Given the description of an element on the screen output the (x, y) to click on. 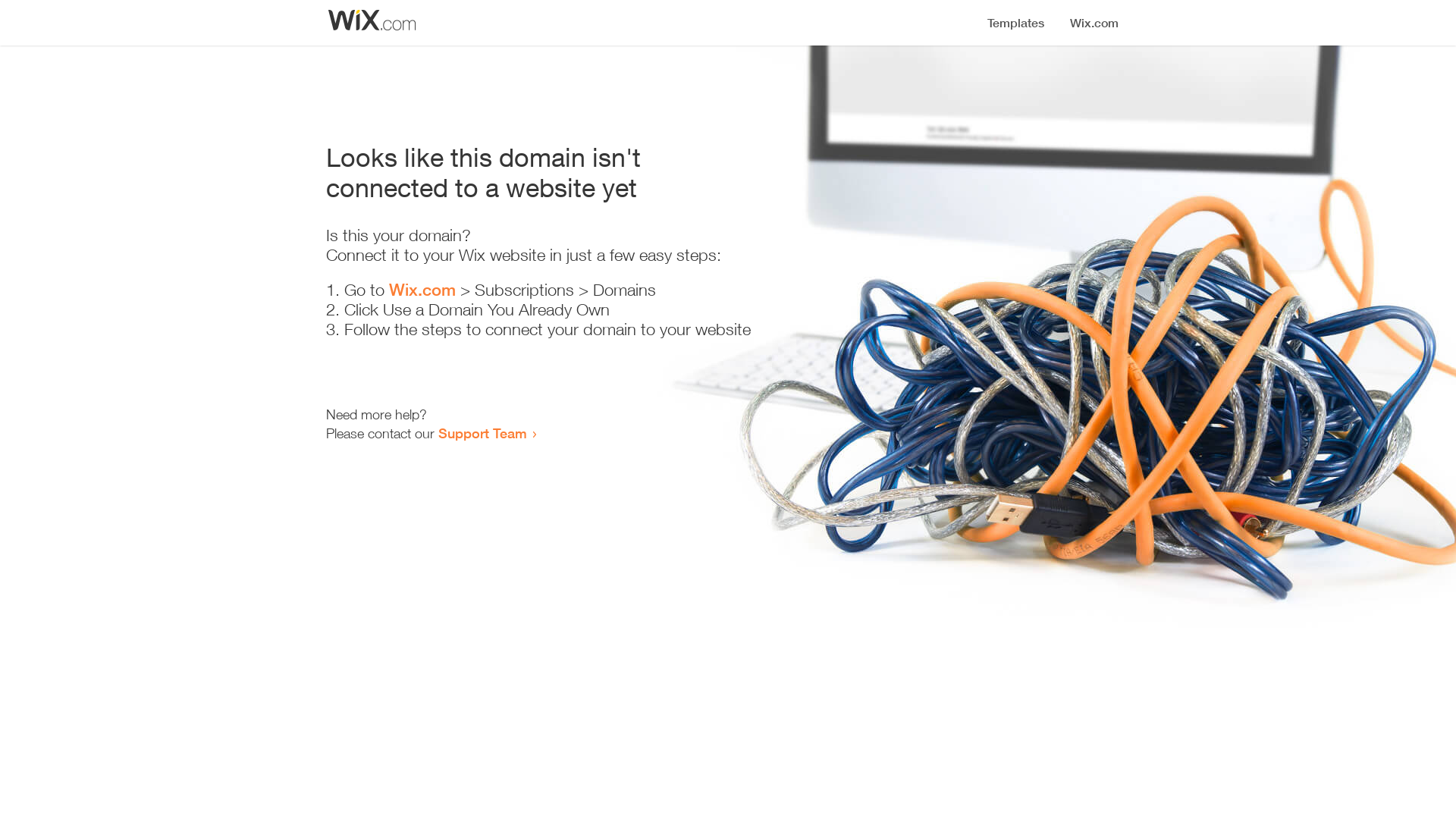
Wix.com Element type: text (422, 289)
Support Team Element type: text (482, 432)
